Given the description of an element on the screen output the (x, y) to click on. 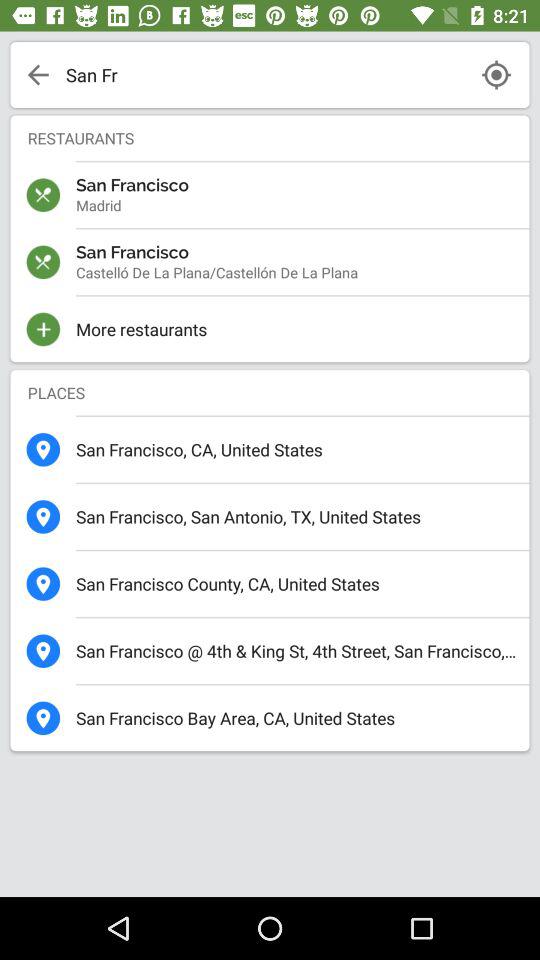
back to previous (38, 75)
